Given the description of an element on the screen output the (x, y) to click on. 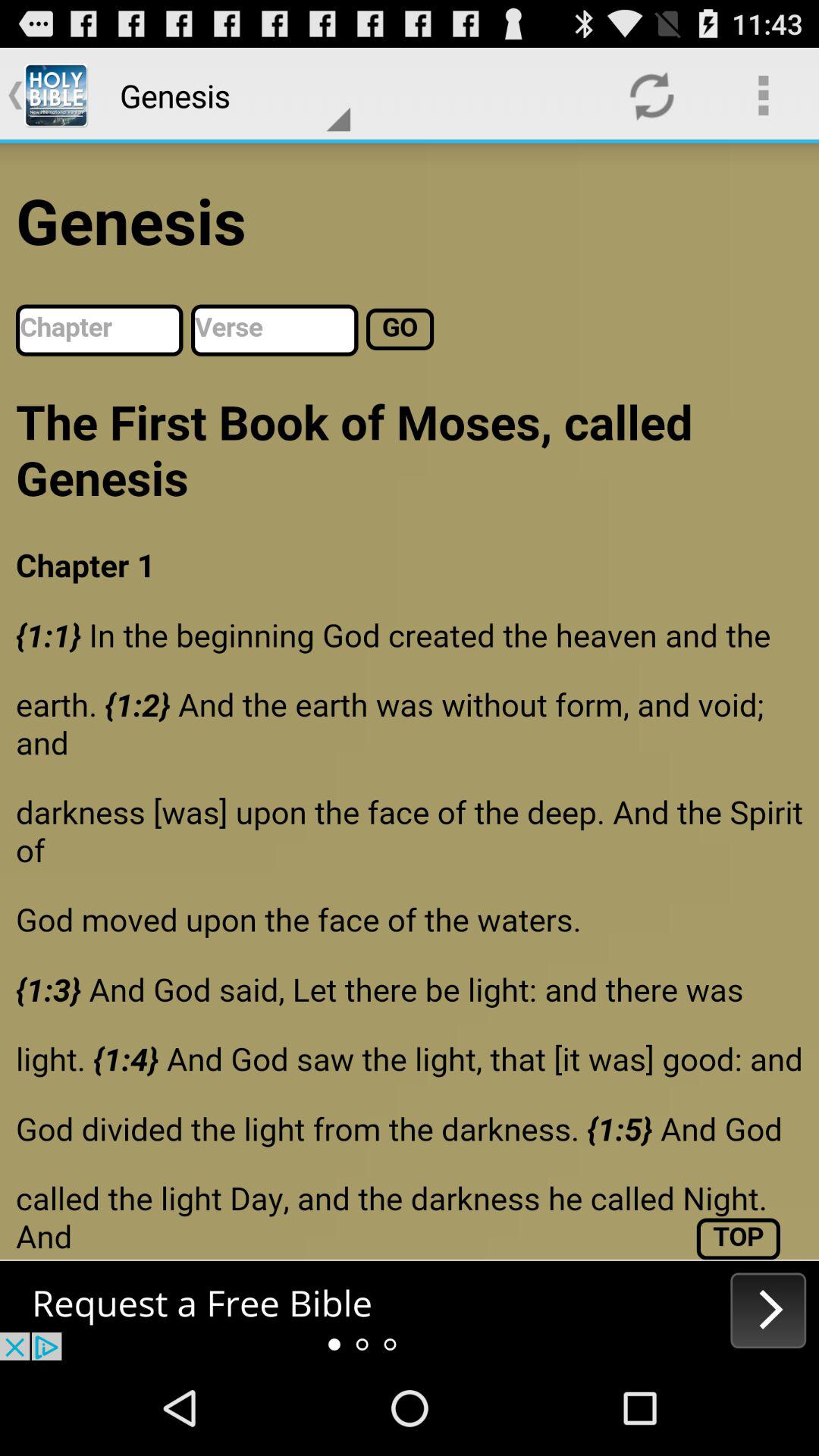
open selected item (409, 1310)
